Given the description of an element on the screen output the (x, y) to click on. 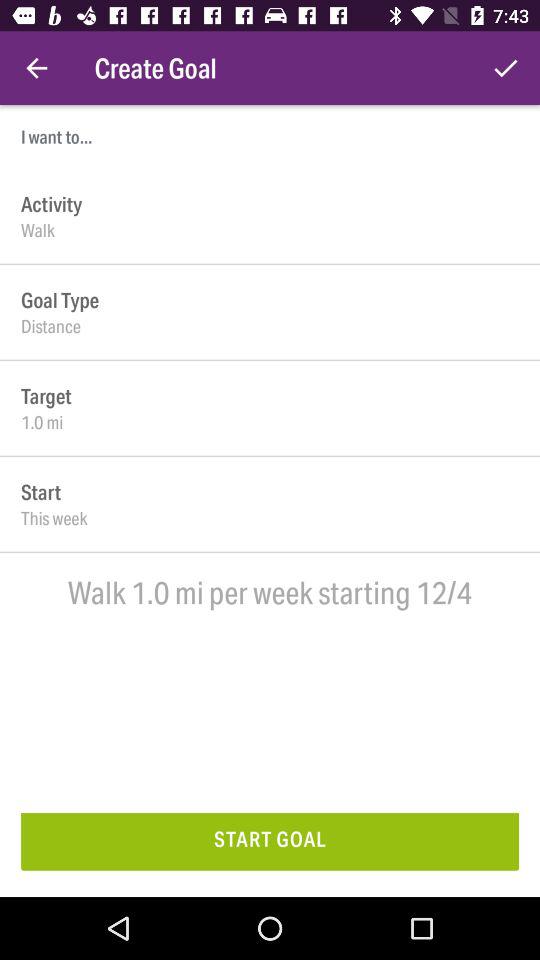
launch start goal (270, 841)
